Given the description of an element on the screen output the (x, y) to click on. 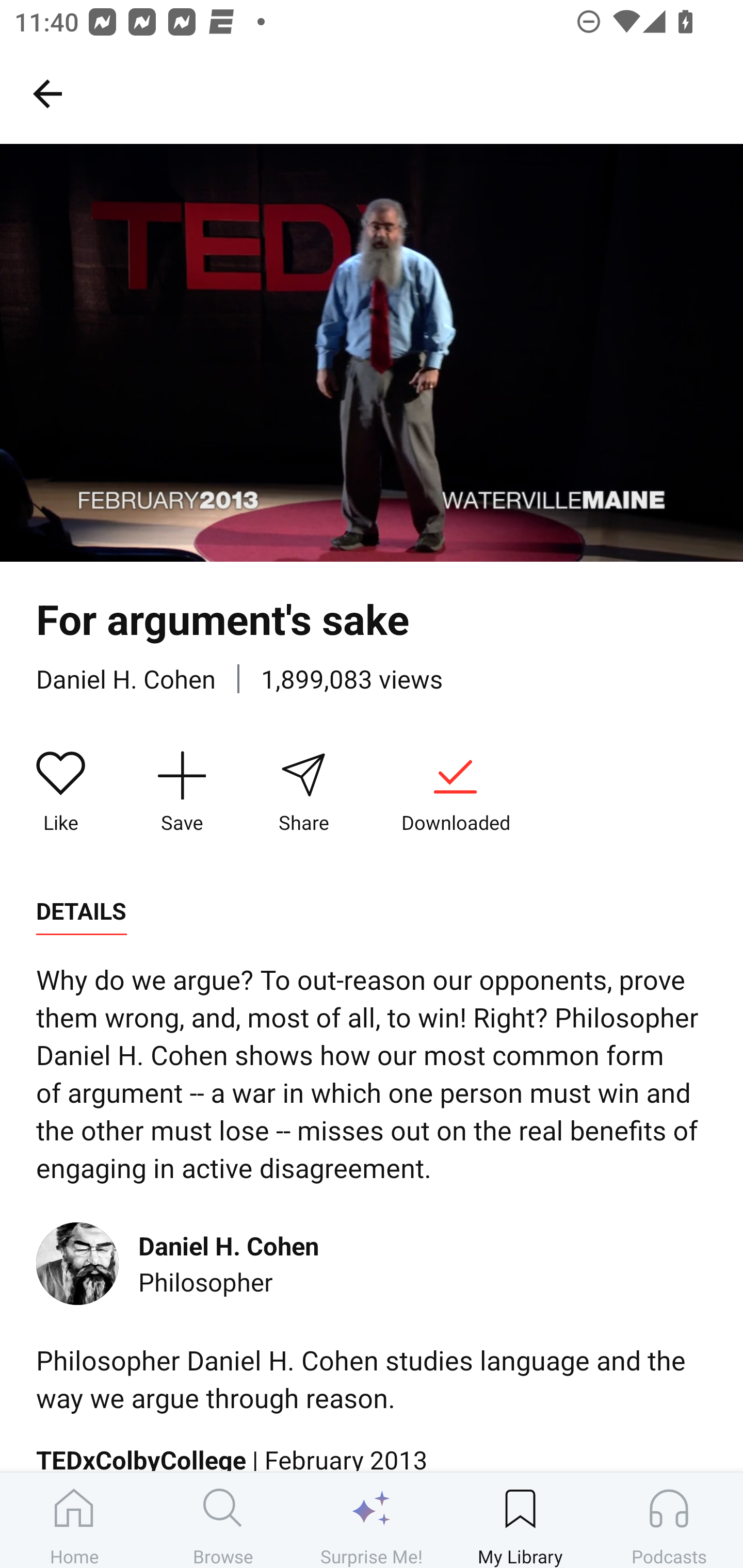
My Library, back (47, 92)
Like (60, 793)
Save (181, 793)
Share (302, 793)
Downloaded (455, 793)
DETAILS (80, 911)
Home (74, 1520)
Browse (222, 1520)
Surprise Me! (371, 1520)
My Library (519, 1520)
Podcasts (668, 1520)
